Given the description of an element on the screen output the (x, y) to click on. 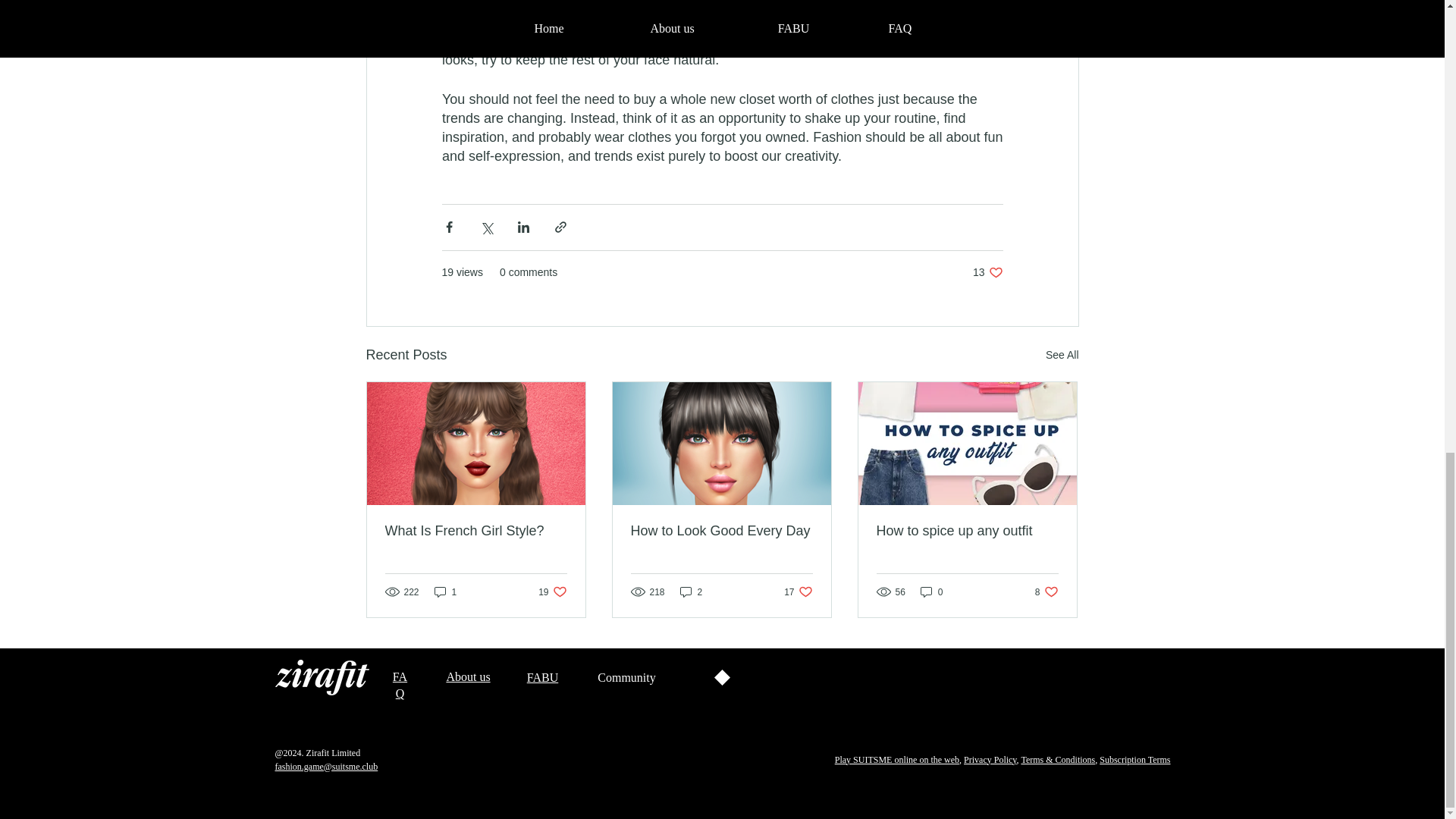
How to spice up any outfit (967, 530)
Privacy Policy (989, 759)
See All (1061, 354)
Play SUITSME online on the web (987, 272)
1 (552, 591)
About us (896, 759)
Subscription Terms (798, 591)
